Given the description of an element on the screen output the (x, y) to click on. 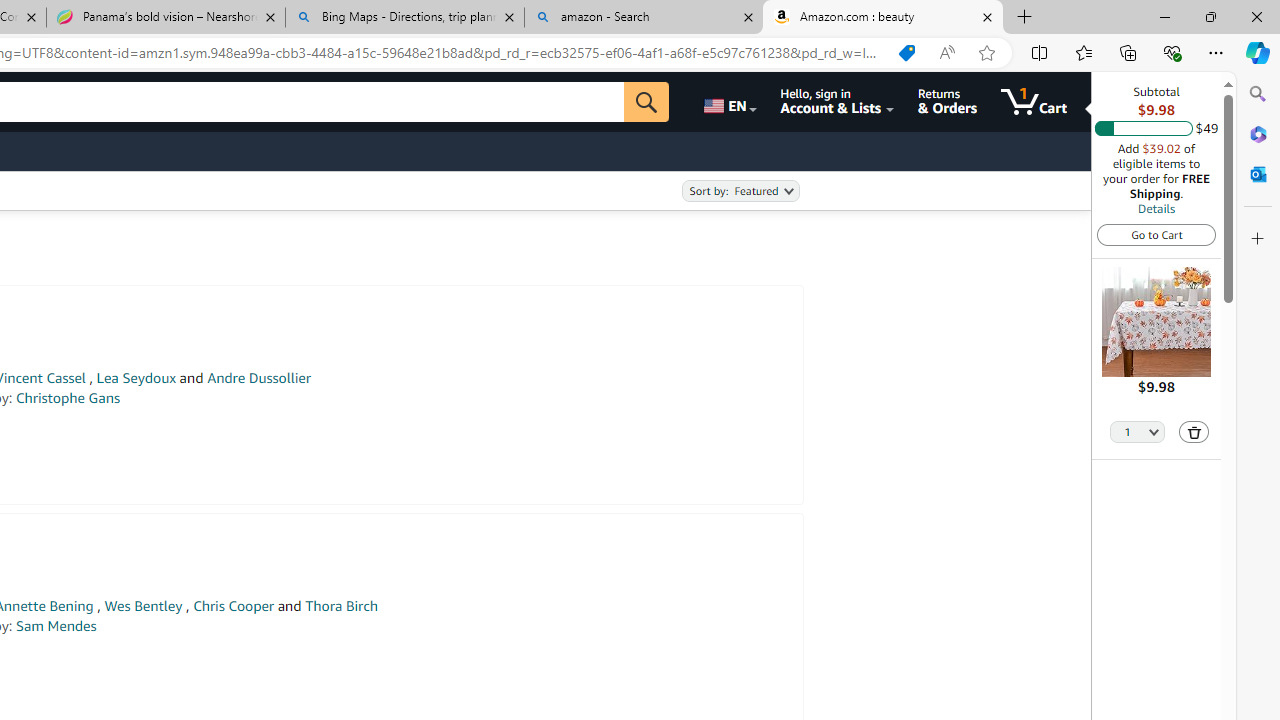
1 item in cart (1034, 101)
Go (646, 101)
Amazon.com : beauty (883, 17)
Chris Cooper (234, 606)
